Given the description of an element on the screen output the (x, y) to click on. 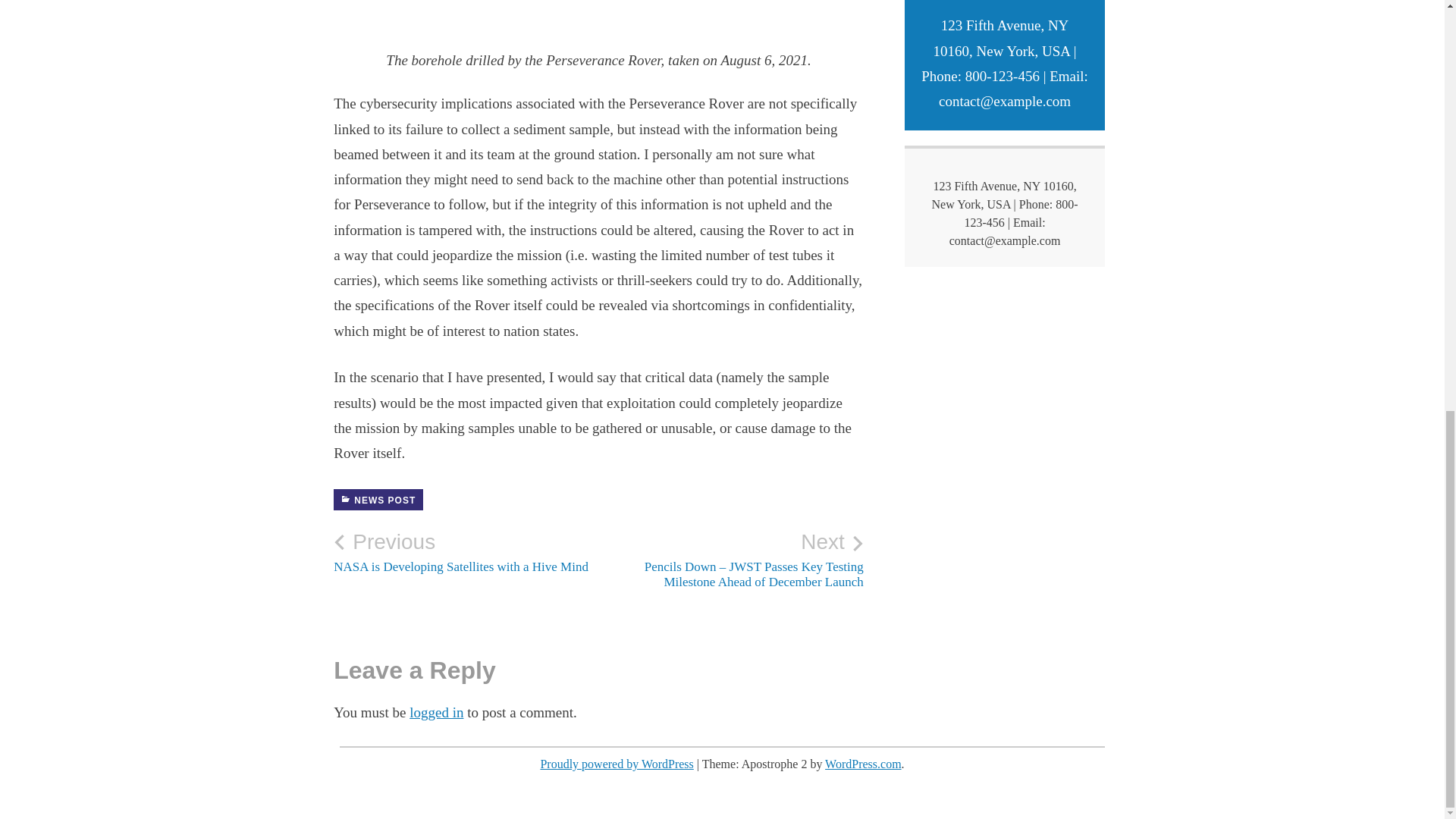
Proudly powered by WordPress (616, 763)
logged in (465, 551)
NEWS POST (436, 712)
WordPress.com (378, 499)
